Given the description of an element on the screen output the (x, y) to click on. 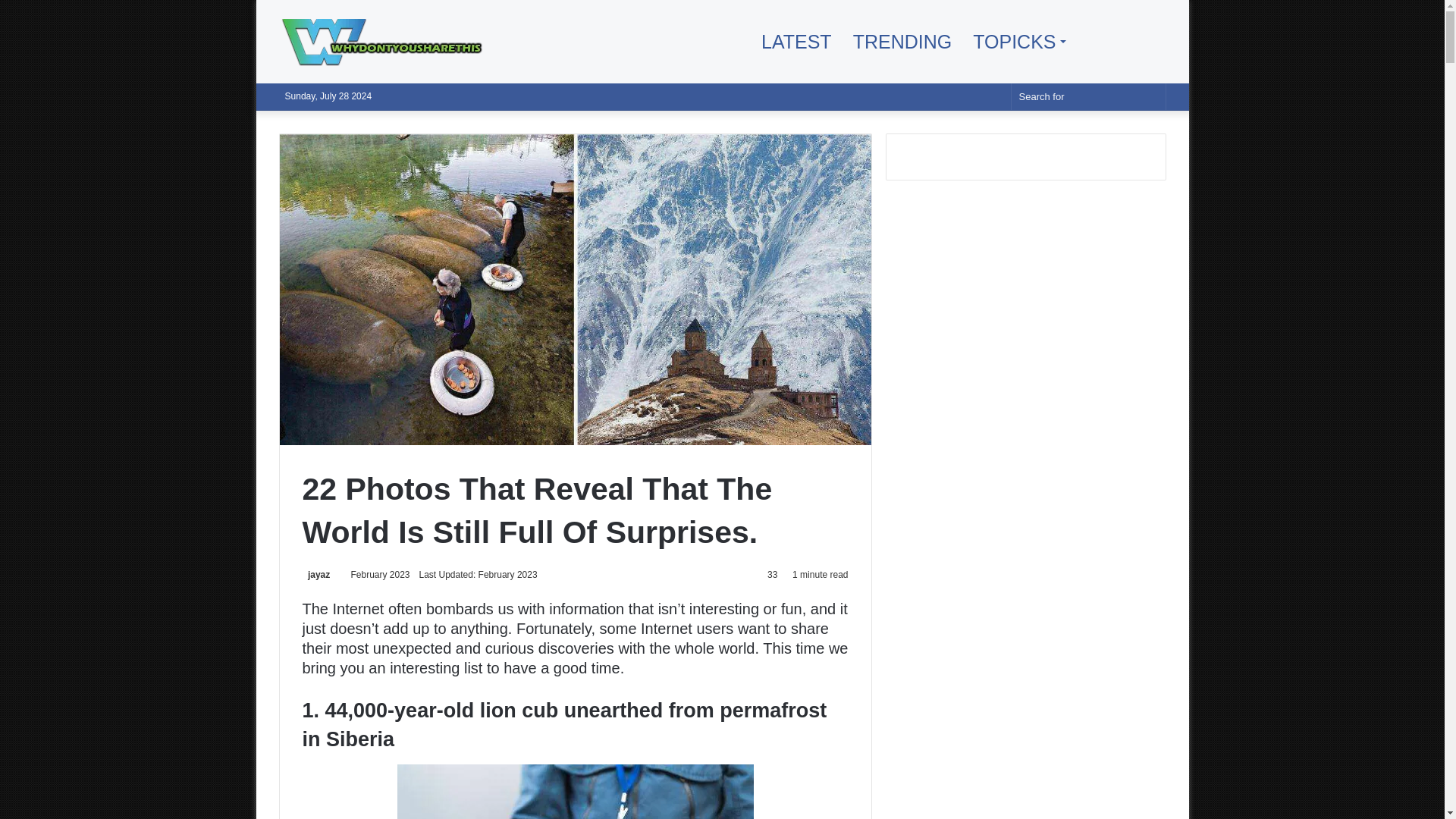
TOPICKS (1018, 41)
Switch skin (991, 96)
Pinterest (1131, 41)
Instagram (1154, 41)
Log In (945, 96)
jayaz (315, 574)
whydontyousharethis (392, 41)
Search for (1149, 96)
Switch skin (991, 96)
Random Article (967, 96)
Random Article (967, 96)
Search for (1088, 96)
Facebook (1109, 41)
TRENDING (902, 41)
RSS (1086, 41)
